Given the description of an element on the screen output the (x, y) to click on. 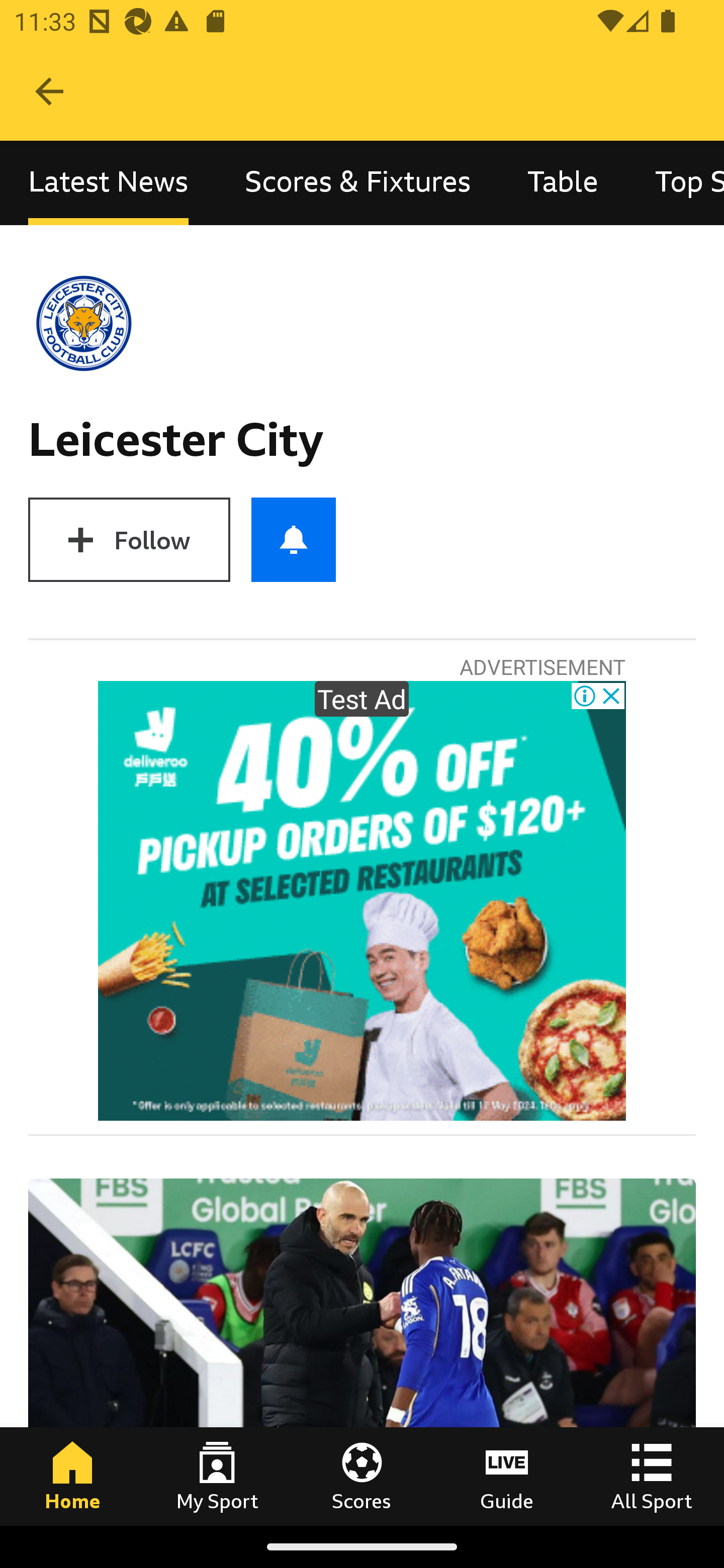
Navigate up (49, 91)
Latest News, selected Latest News (108, 183)
Scores & Fixtures (357, 183)
Table (562, 183)
Follow Leicester City Follow (129, 539)
Push notifications for Leicester City (293, 539)
Advertisement (361, 900)
My Sport (216, 1475)
Scores (361, 1475)
Guide (506, 1475)
All Sport (651, 1475)
